Given the description of an element on the screen output the (x, y) to click on. 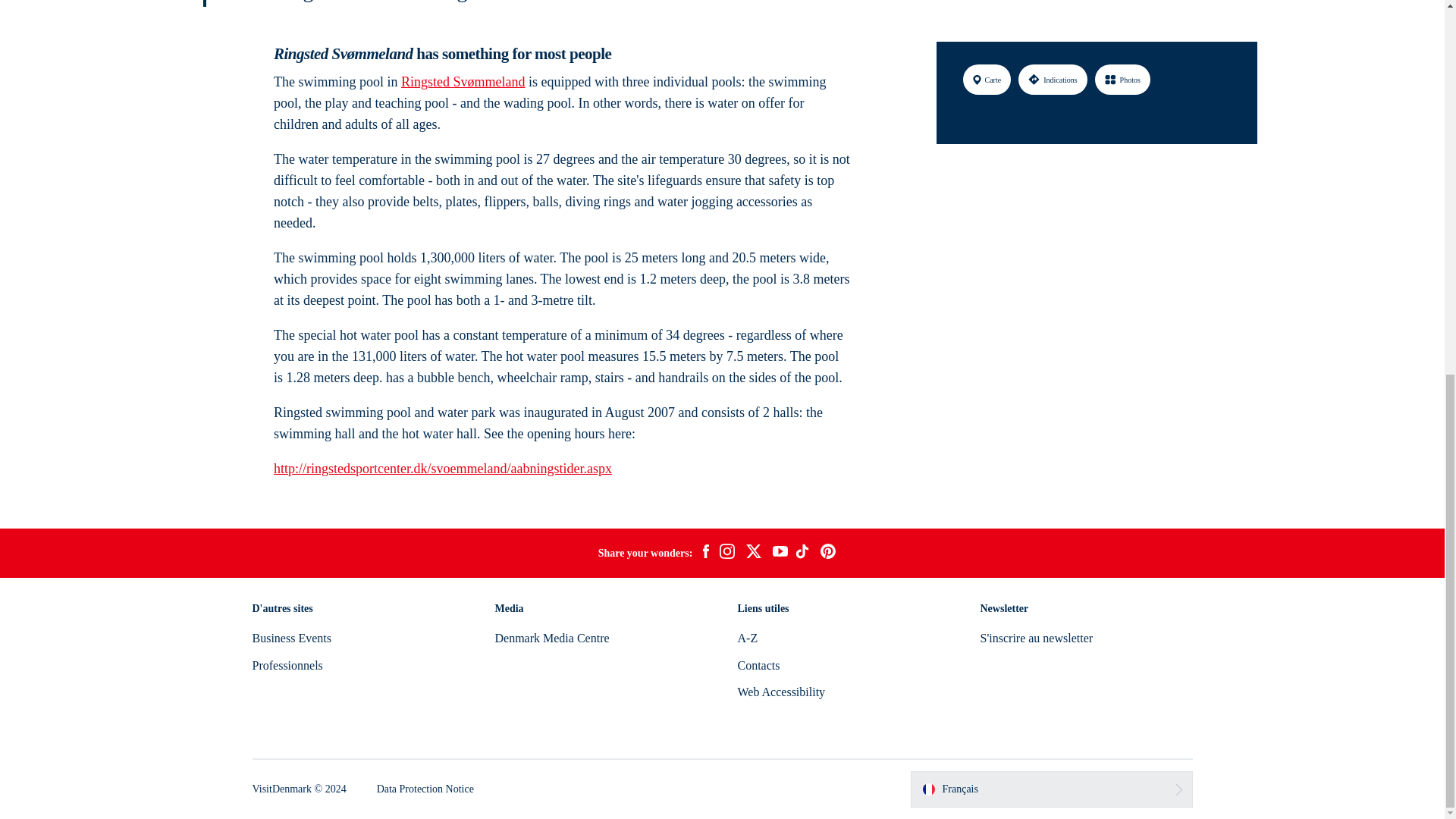
Data Protection Notice (425, 789)
Denmark Media Centre (551, 637)
Contacts (757, 665)
facebook (705, 553)
Denmark Media Centre (551, 637)
S'inscrire au newsletter (1036, 637)
Professionnels (286, 665)
instagram (726, 553)
Data Protection Notice (425, 789)
S'inscrire au newsletter (1036, 637)
